Given the description of an element on the screen output the (x, y) to click on. 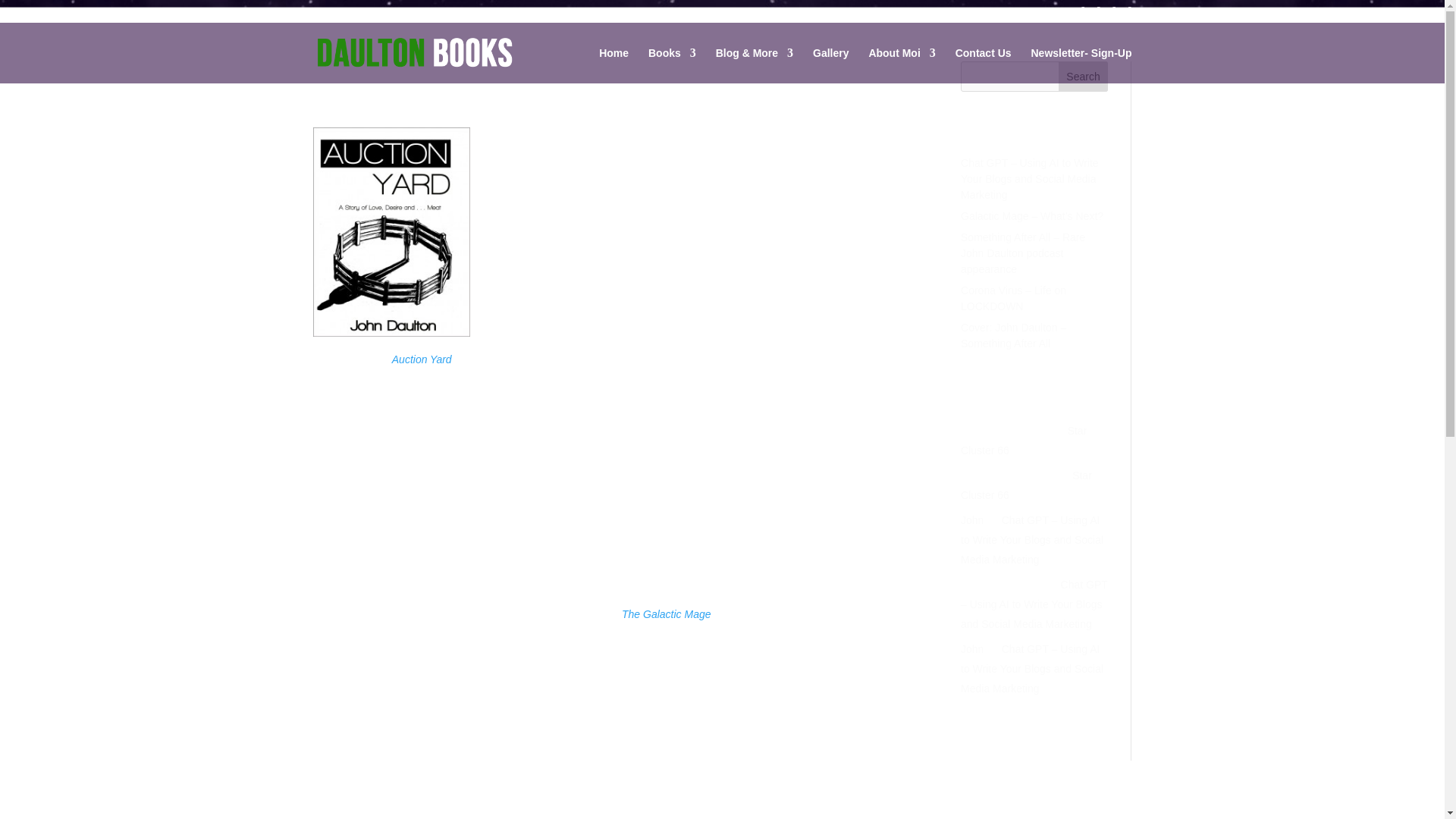
2 comments (515, 96)
Newsletter- Sign-Up (1080, 65)
Gallery (830, 65)
Posts by odesk.jatin (351, 96)
Contact Us (983, 65)
About Moi (900, 65)
The Galactic Mage (666, 613)
Blog (468, 96)
Search (1083, 76)
Auction Yard (421, 358)
